Given the description of an element on the screen output the (x, y) to click on. 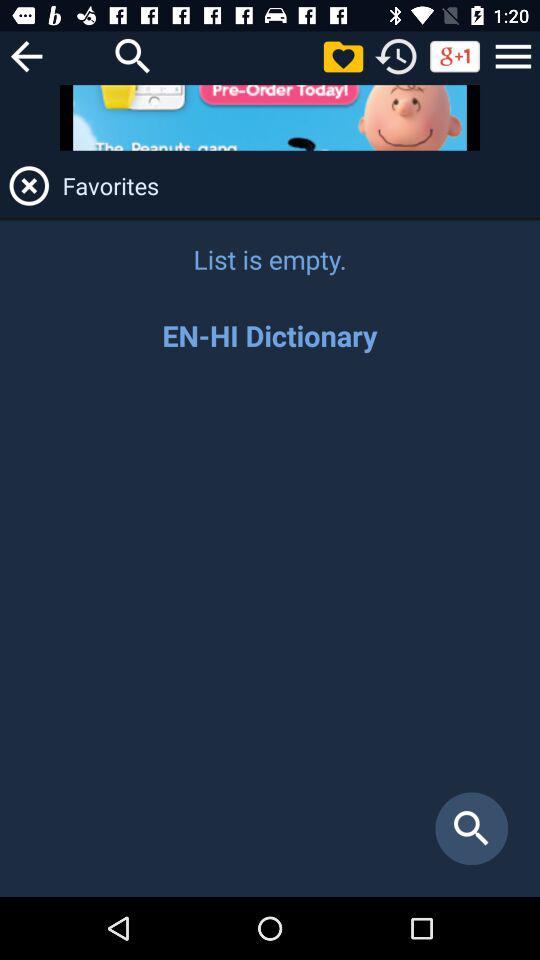
view menu (513, 56)
